Given the description of an element on the screen output the (x, y) to click on. 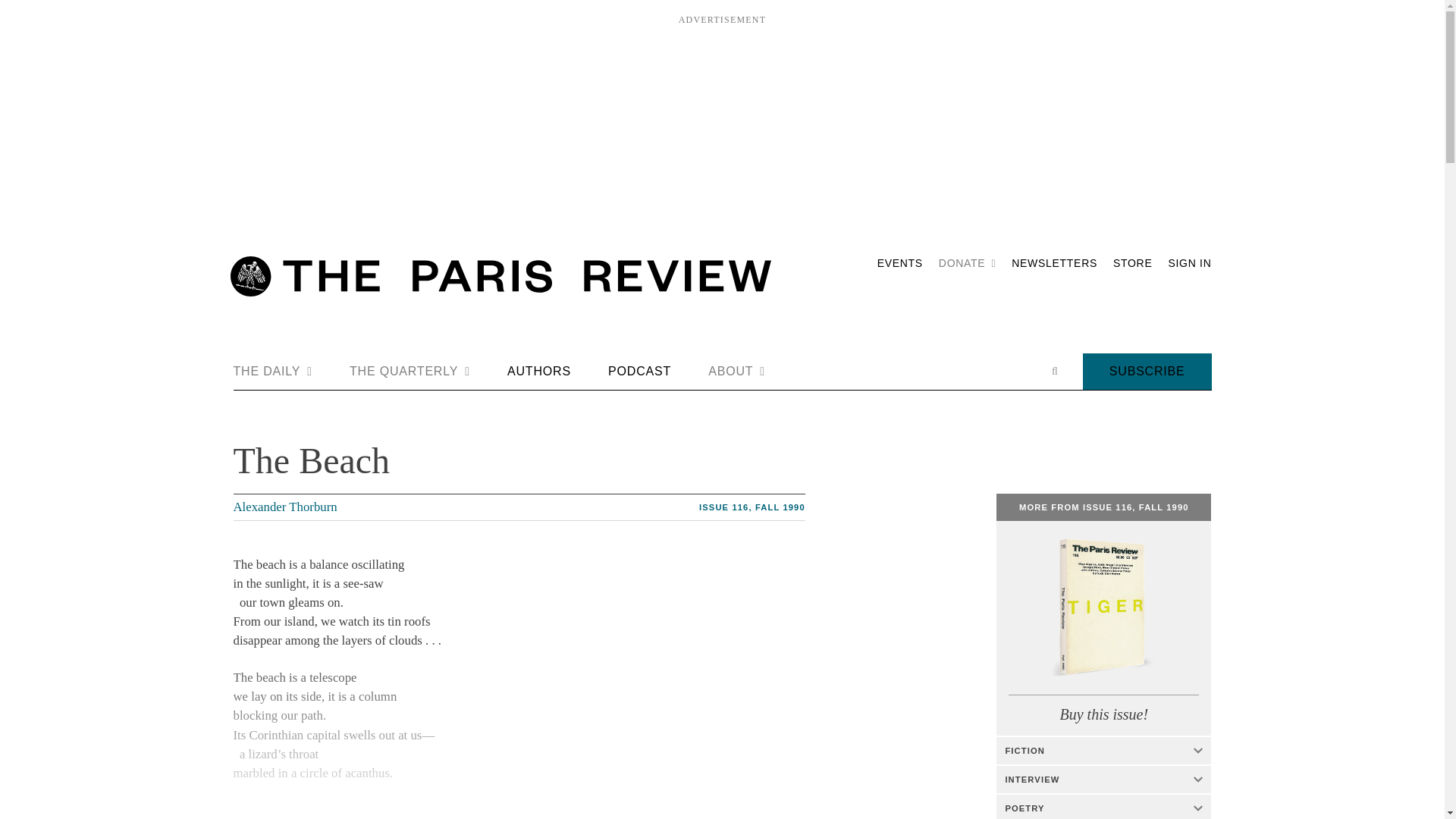
Open search (1054, 371)
THE QUARTERLY (409, 371)
THE DAILY (272, 371)
